Given the description of an element on the screen output the (x, y) to click on. 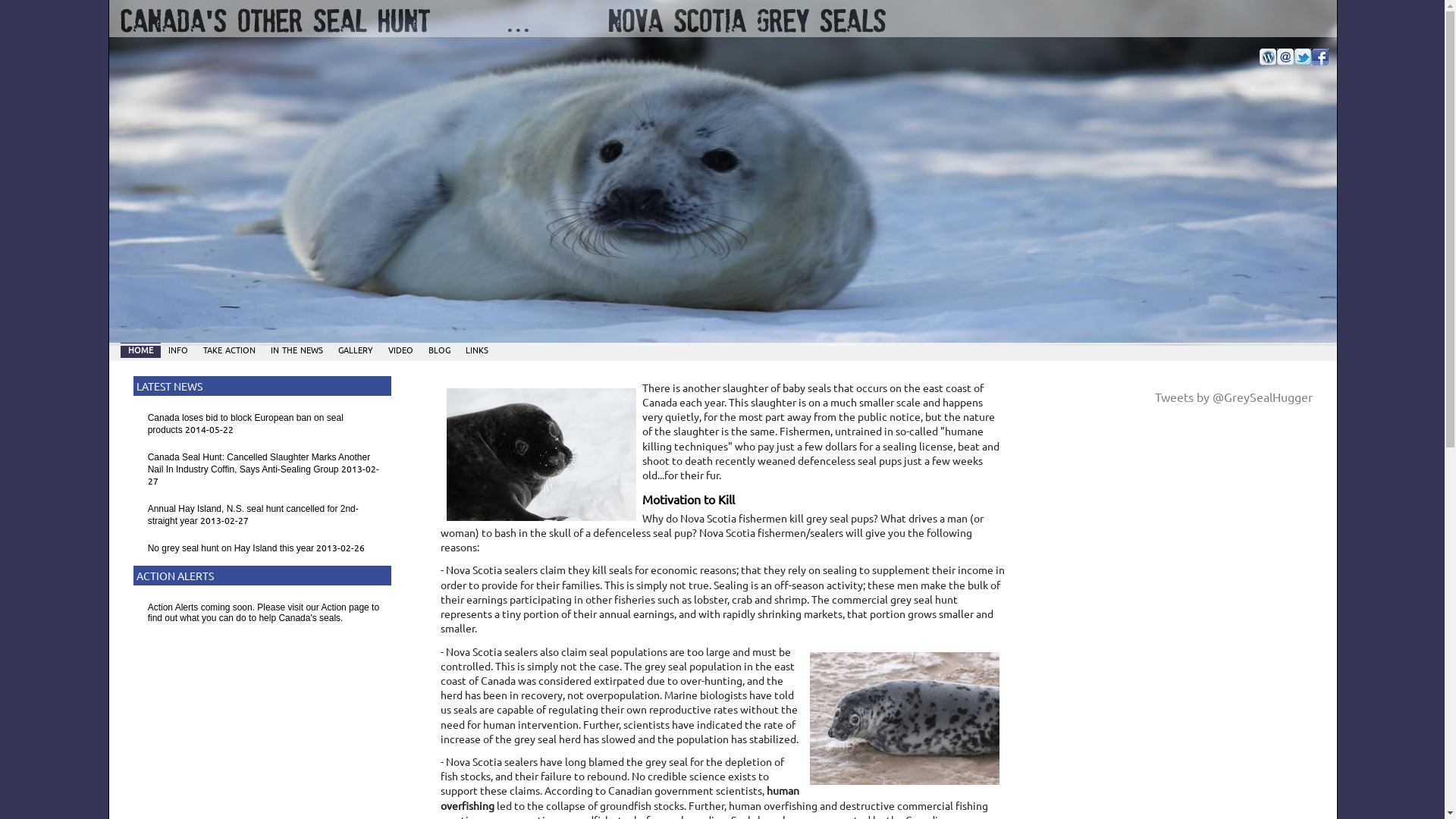
Twitter Element type: text (1302, 56)
in the news Element type: text (296, 347)
No grey seal hunt on Hay Island this year Element type: text (231, 547)
Join us on Facebook Element type: text (1319, 56)
blog Element type: text (439, 347)
Email us Element type: text (1285, 56)
info Element type: text (177, 347)
take action Element type: text (229, 347)
gallery Element type: text (355, 347)
Tweets by @GreySealHugger Element type: text (1233, 396)
Subscribe to our Newsletter Element type: text (1250, 56)
video Element type: text (400, 347)
Check out our blog Element type: text (1267, 56)
home Element type: text (140, 347)
links Element type: text (476, 347)
Canada loses bid to block European ban on seal products Element type: text (245, 423)
